Given the description of an element on the screen output the (x, y) to click on. 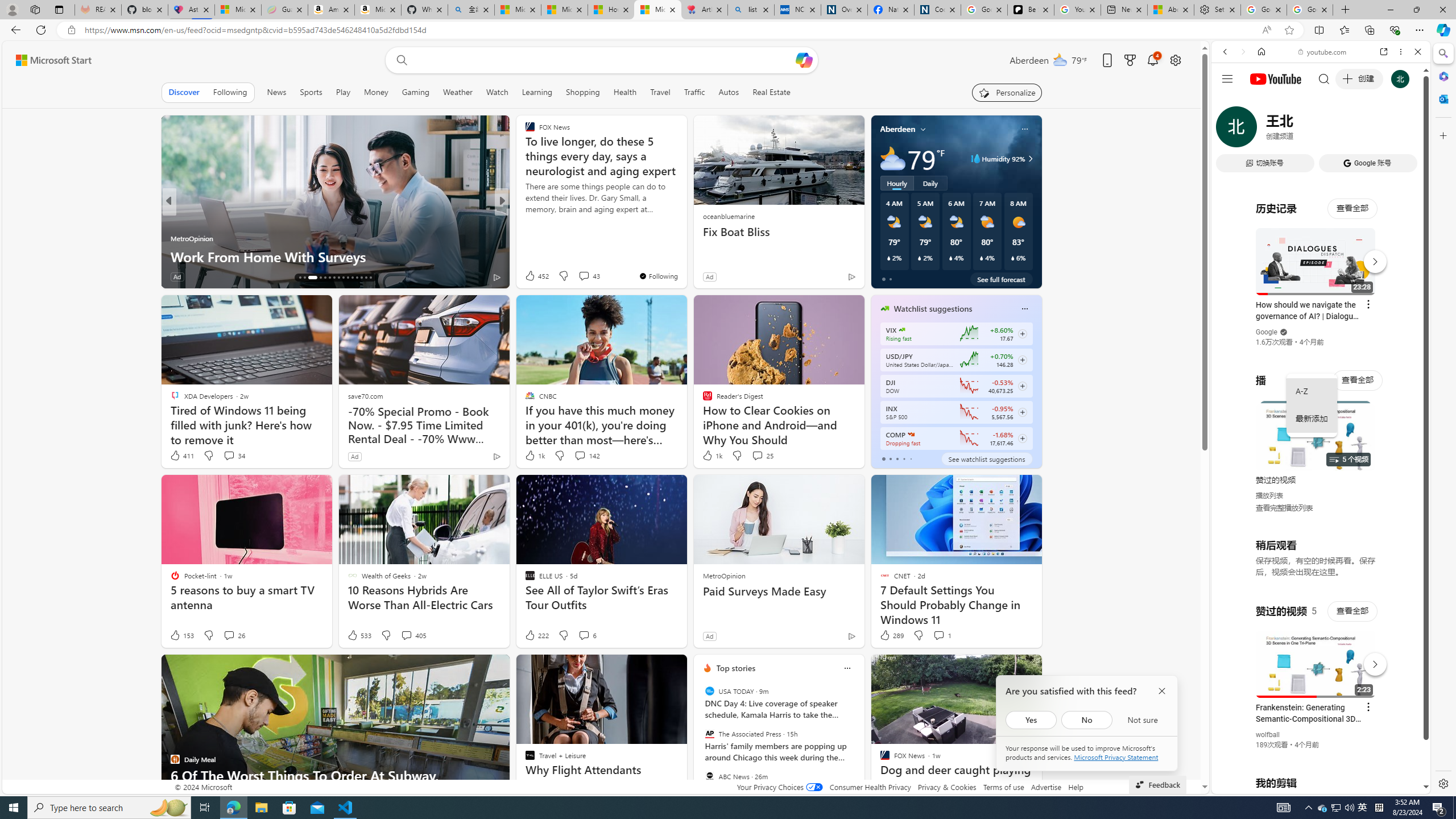
VIDEOS (1300, 130)
Play (342, 92)
Moneywise (524, 219)
Search the web (1326, 78)
Weather (457, 92)
Following (229, 92)
Music (1320, 309)
View comments 1 Comment (938, 635)
View comments 405 Comment (413, 634)
Travel (660, 92)
452 Like (536, 275)
